Given the description of an element on the screen output the (x, y) to click on. 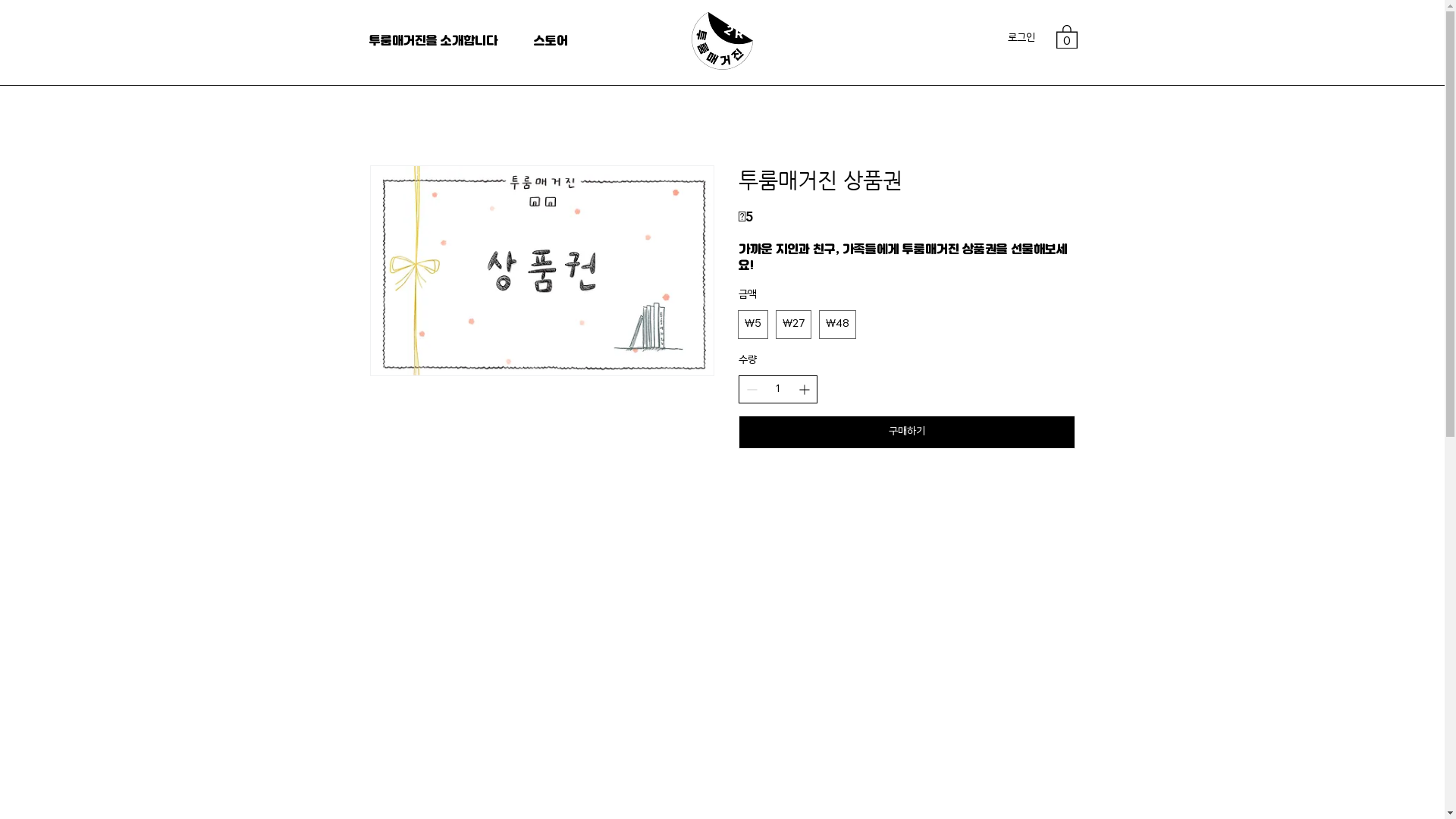
0 Element type: text (1065, 35)
